Given the description of an element on the screen output the (x, y) to click on. 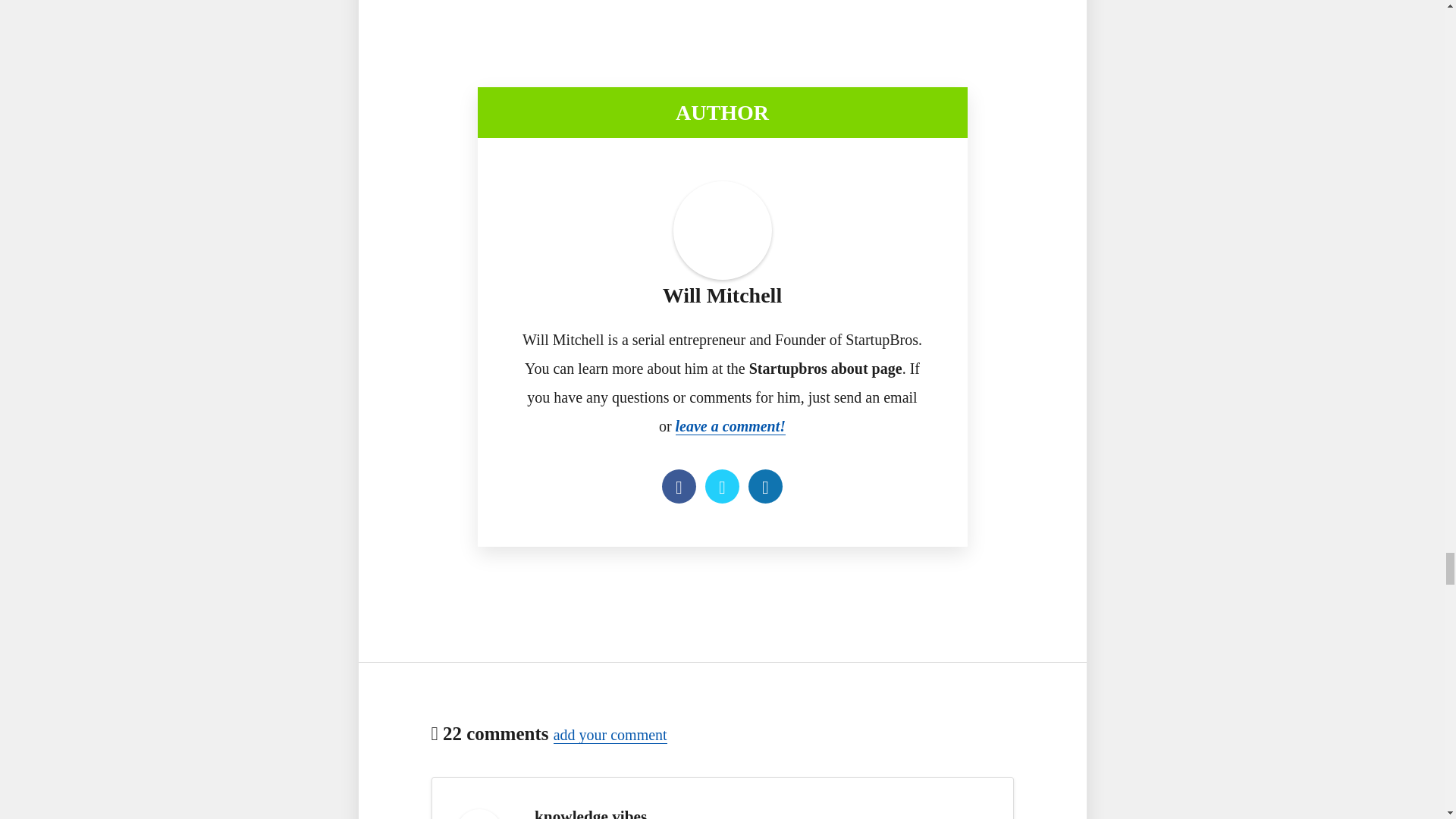
Gravatar for knowledge vibes (479, 814)
Gravatar for Will Mitchell (721, 230)
leave a comment! (730, 425)
